Given the description of an element on the screen output the (x, y) to click on. 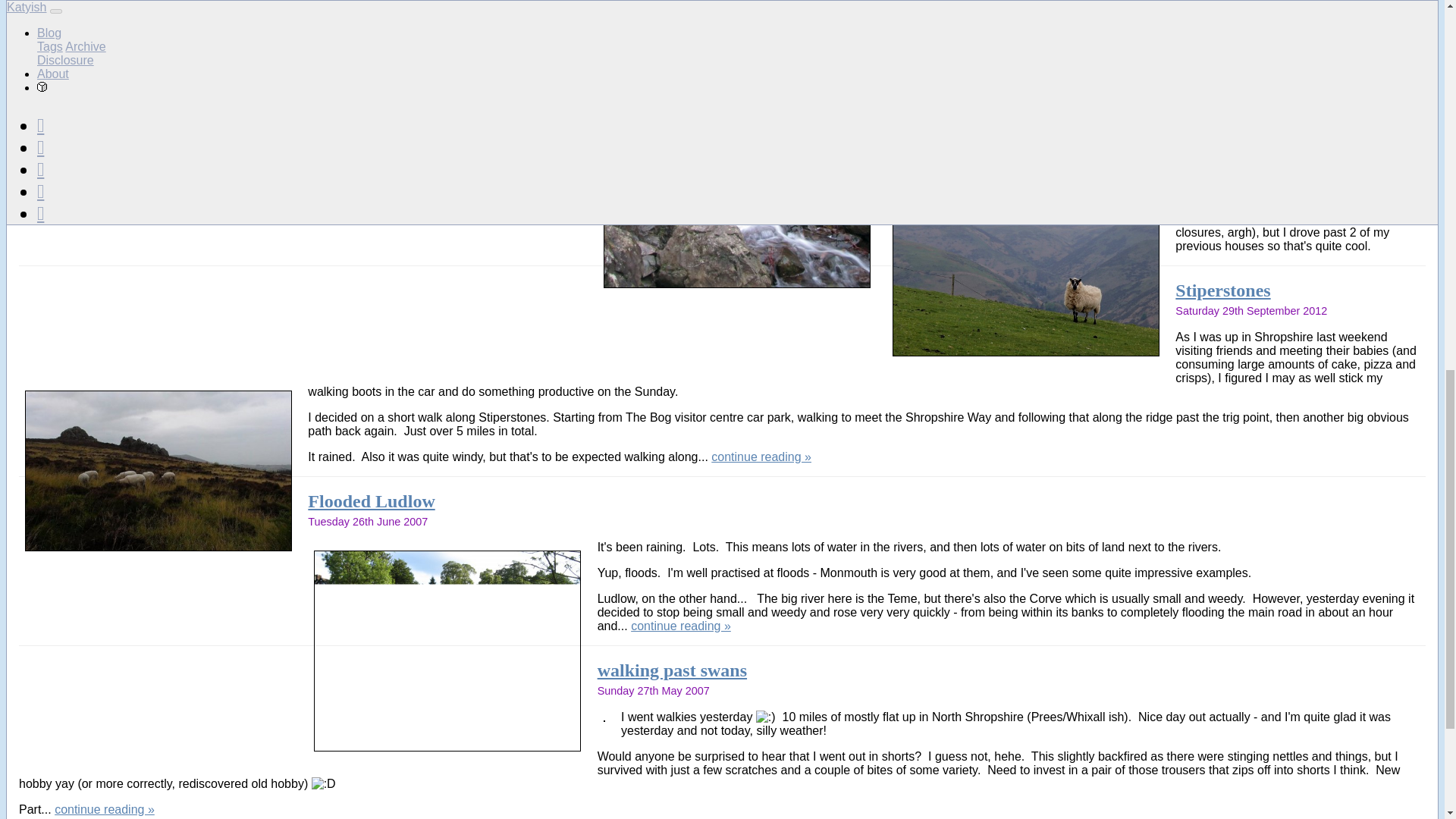
walking past swans (671, 670)
Stiperstones (1221, 290)
Shropshire sheep (953, 105)
Flooded Ludlow (370, 501)
